Given the description of an element on the screen output the (x, y) to click on. 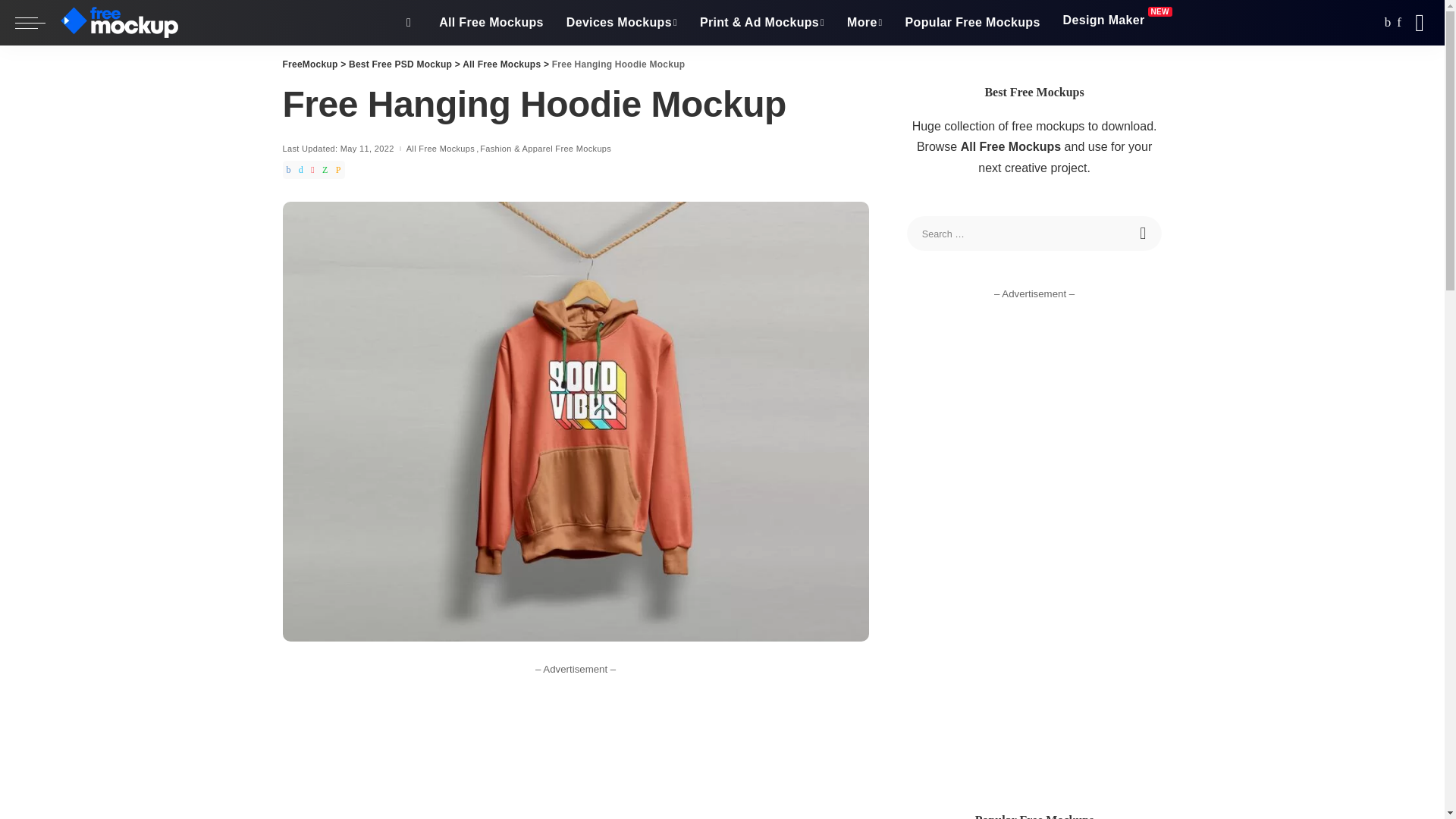
Most Downloaded Mockups (972, 22)
All Free Mockups (491, 22)
Go to FreeMockup. (309, 63)
Go to the All Free Mockups Category archives. (501, 63)
Search (1143, 233)
Devices Mockups (621, 22)
Search (1143, 233)
FreeMockup (123, 22)
Go to Best Free PSD Mockup. (400, 63)
